Given the description of an element on the screen output the (x, y) to click on. 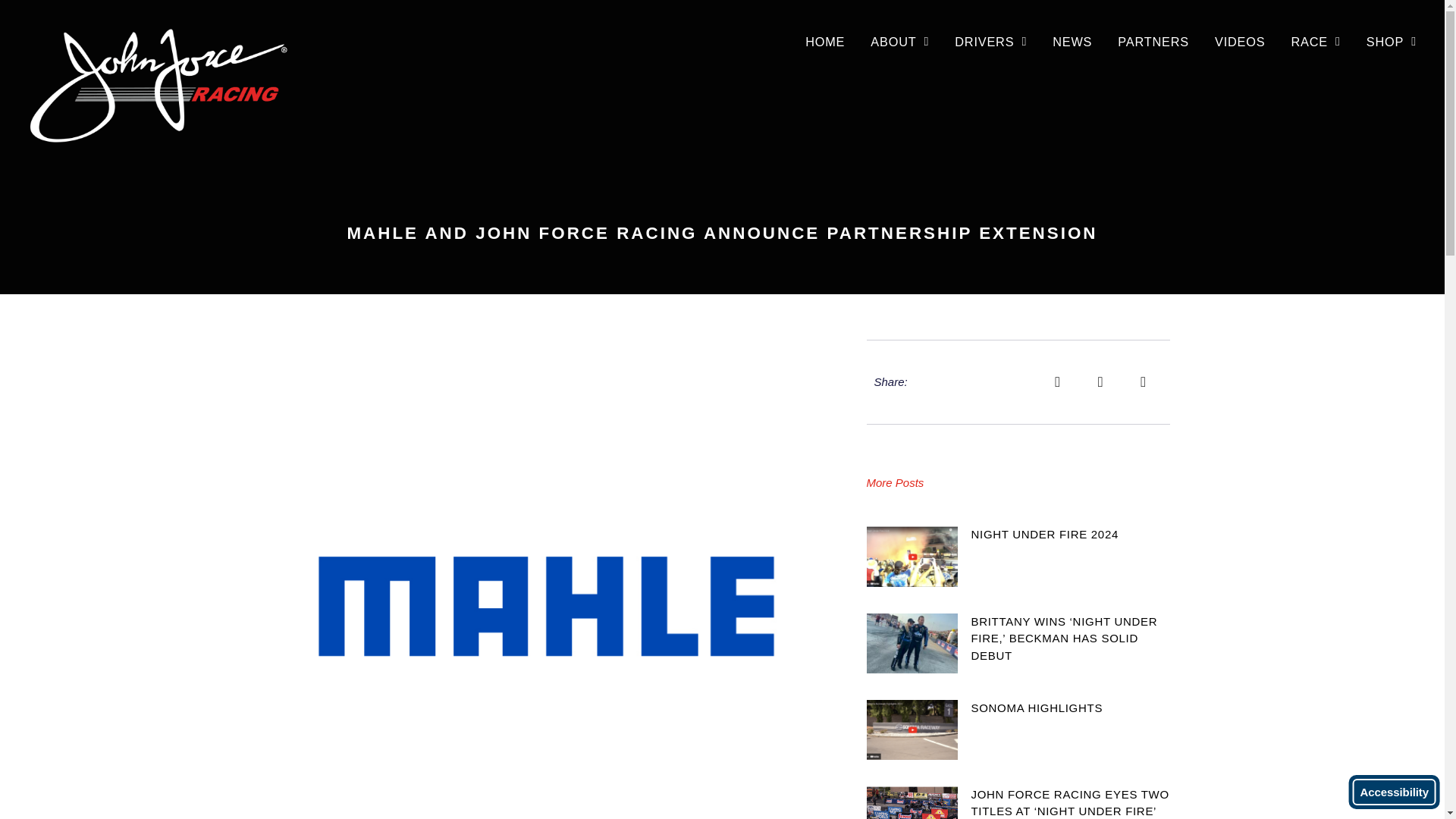
SHOP (1391, 41)
RACE (1315, 41)
Accessibility Menu (1394, 791)
PARTNERS (1153, 41)
NEWS (1072, 41)
DRIVERS (990, 41)
VIDEOS (1240, 41)
ABOUT (899, 41)
HOME (824, 41)
